Given the description of an element on the screen output the (x, y) to click on. 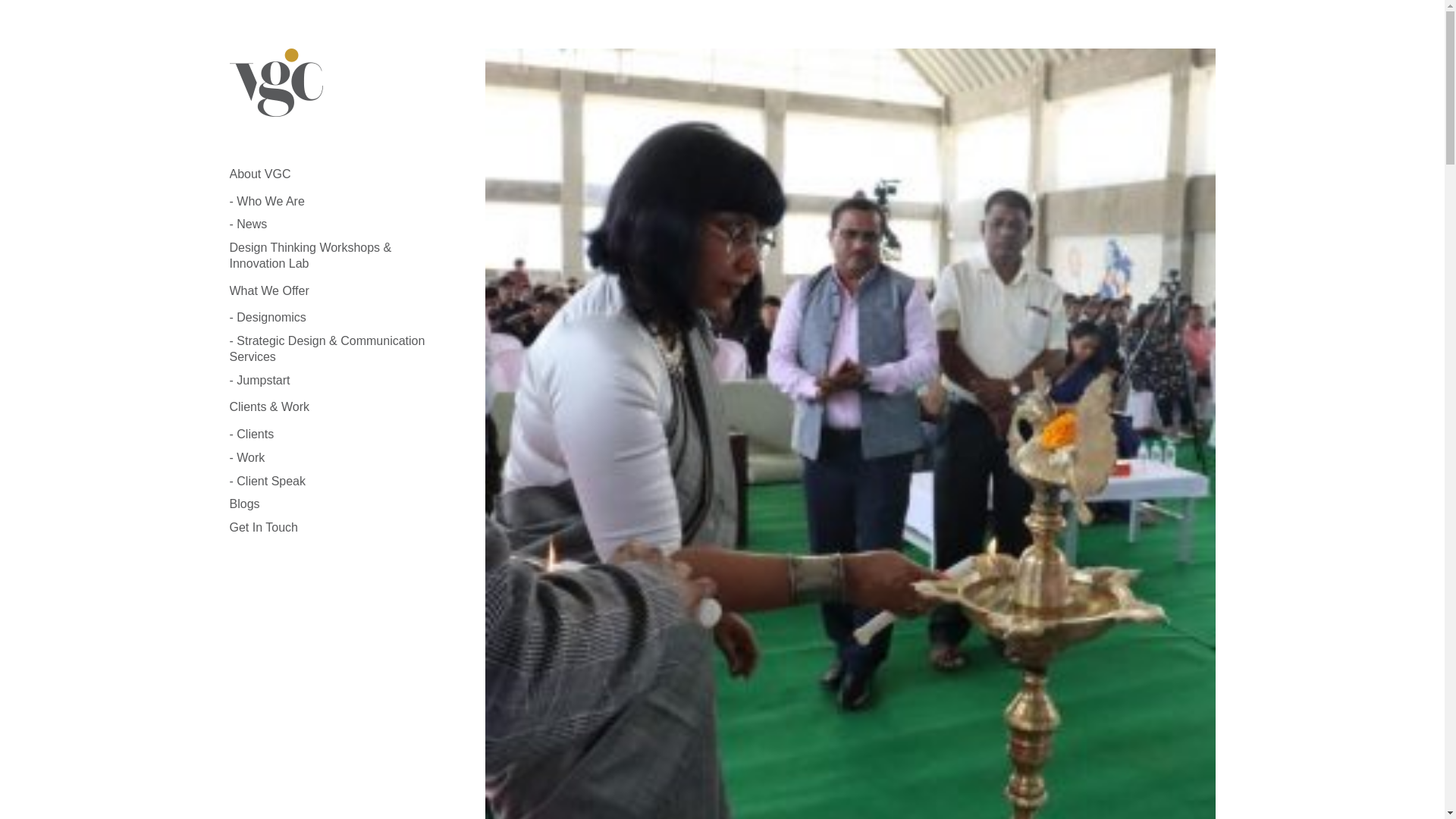
- Client Speak (266, 481)
Get In Touch (262, 528)
Blogs (243, 504)
- Clients (250, 434)
- Who We Are (266, 202)
- News (247, 225)
About VGC (258, 174)
- Work (246, 458)
- Designomics (266, 317)
- Jumpstart (258, 380)
